Given the description of an element on the screen output the (x, y) to click on. 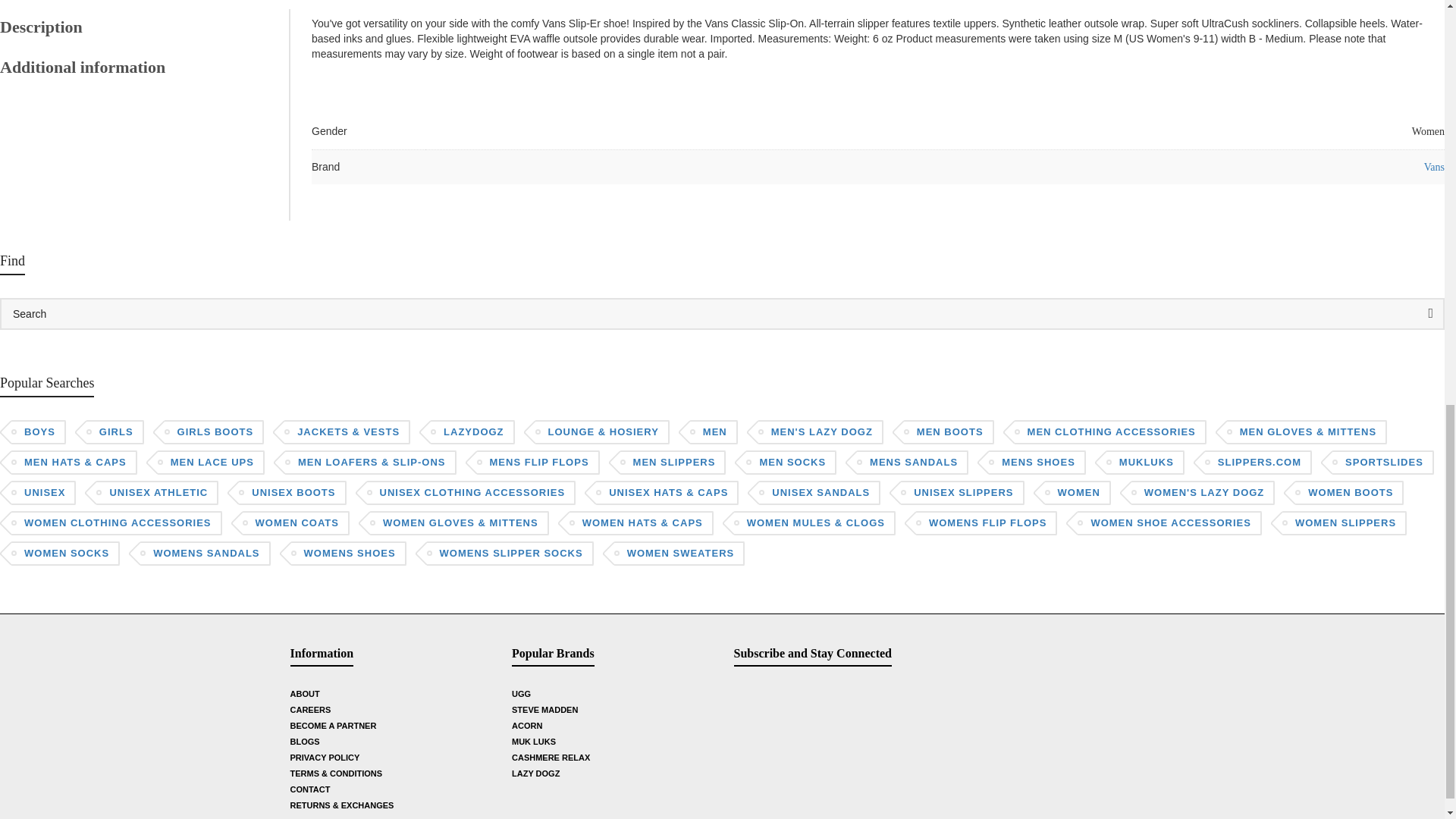
MEN BOOTS (948, 432)
LAZYDOGZ (472, 432)
Description (137, 27)
MEN CLOTHING ACCESSORIES (1110, 432)
BOYS (37, 432)
GIRLS (114, 432)
MEN'S LAZY DOGZ (820, 432)
Additional information (137, 67)
MEN (713, 432)
GIRLS BOOTS (213, 432)
